Given the description of an element on the screen output the (x, y) to click on. 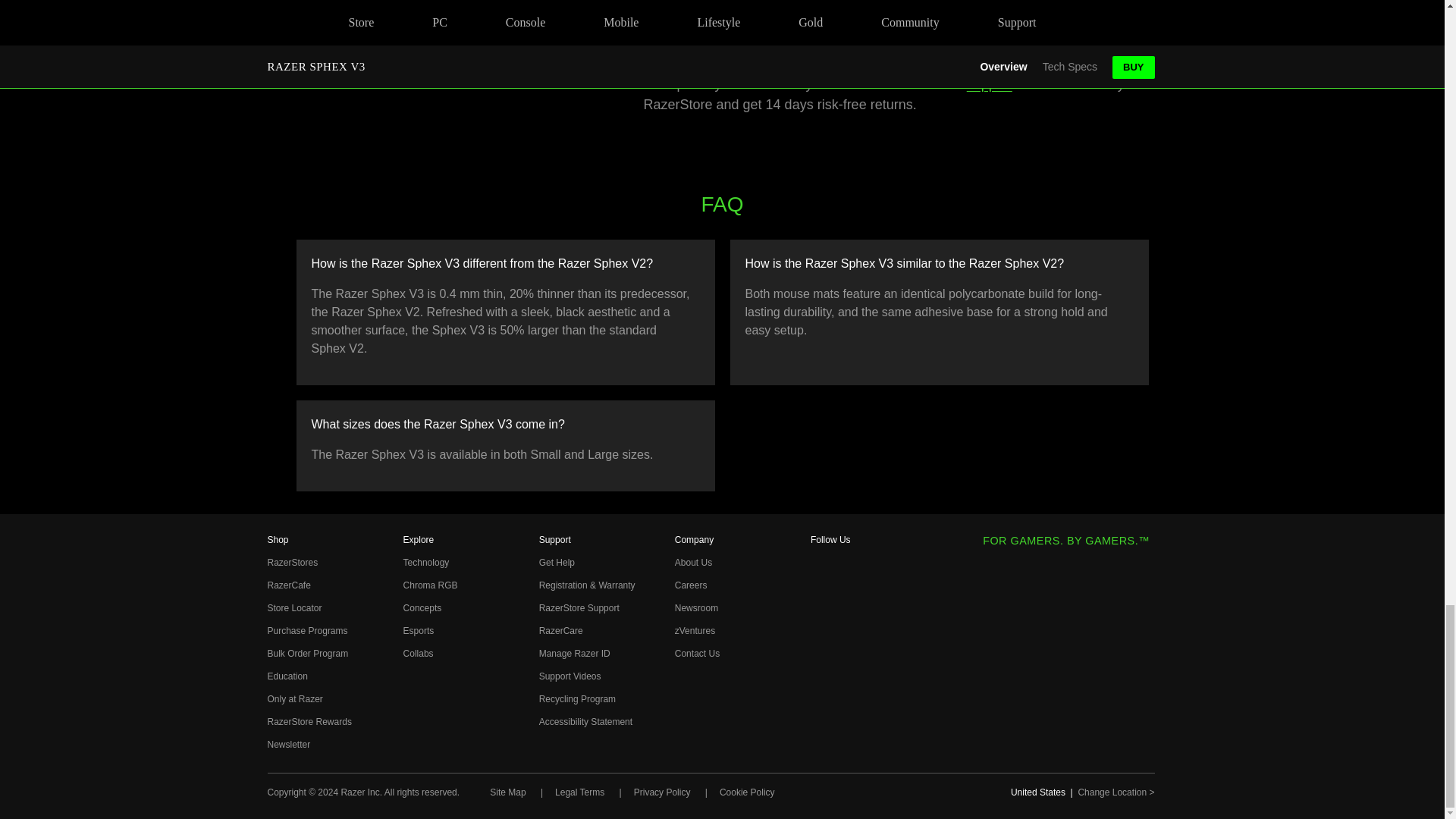
Discord (820, 741)
Facebook (820, 566)
Threads (820, 616)
TikTok (820, 690)
Twitch (820, 716)
YouTube (820, 666)
Instagram (820, 590)
X (820, 640)
